Given the description of an element on the screen output the (x, y) to click on. 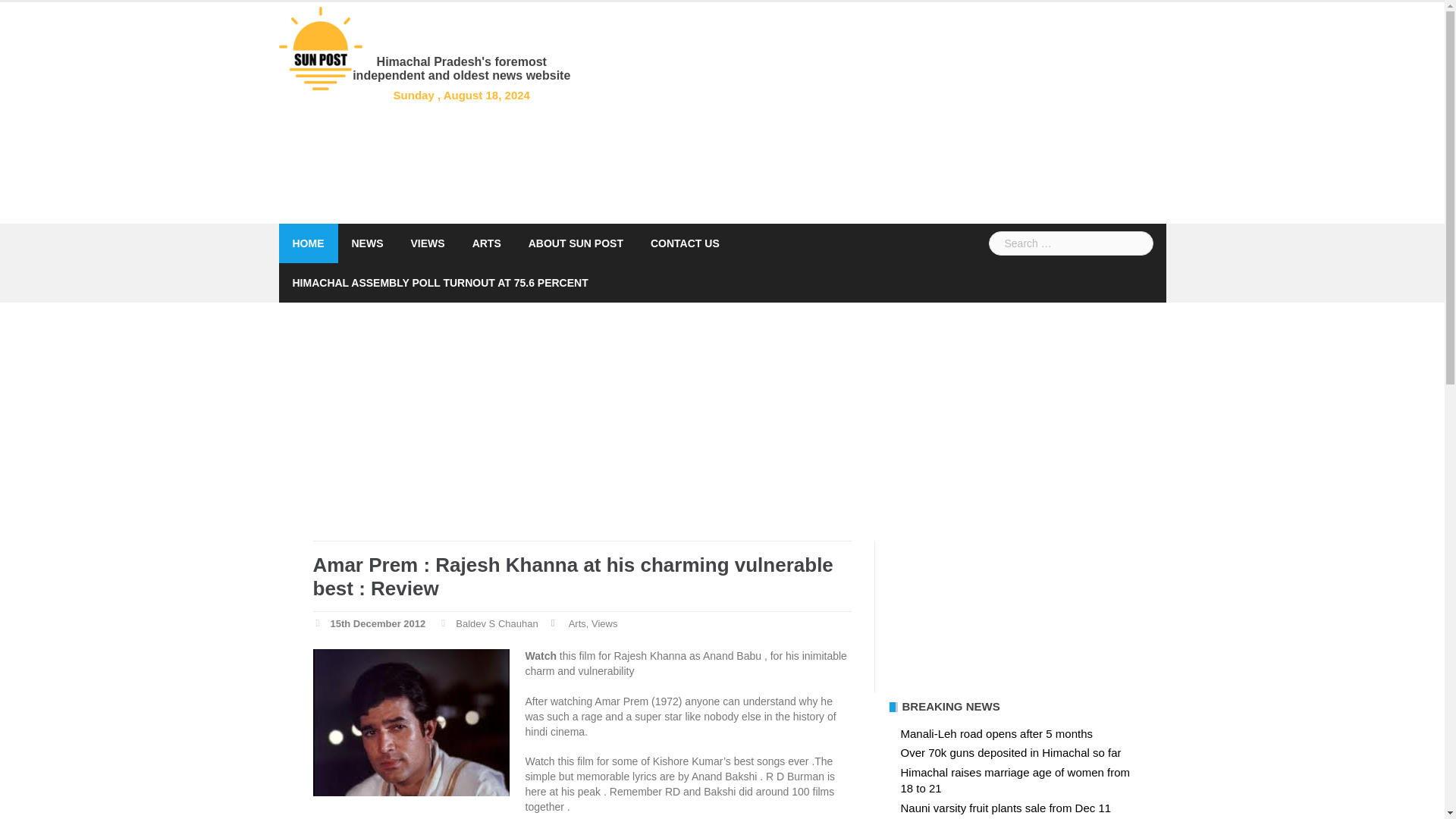
15th December 2012 (378, 624)
Advertisement (950, 616)
Manali-Leh road opens after 5 months (997, 733)
Over 70k guns deposited in Himachal so far (1011, 752)
Himachal raises marriage age of women from 18 to 21 (1016, 779)
Advertisement (861, 112)
Baldev S Chauhan (496, 624)
Nauni varsity fruit plants sale from Dec 11 (1006, 807)
Search (39, 18)
